Given the description of an element on the screen output the (x, y) to click on. 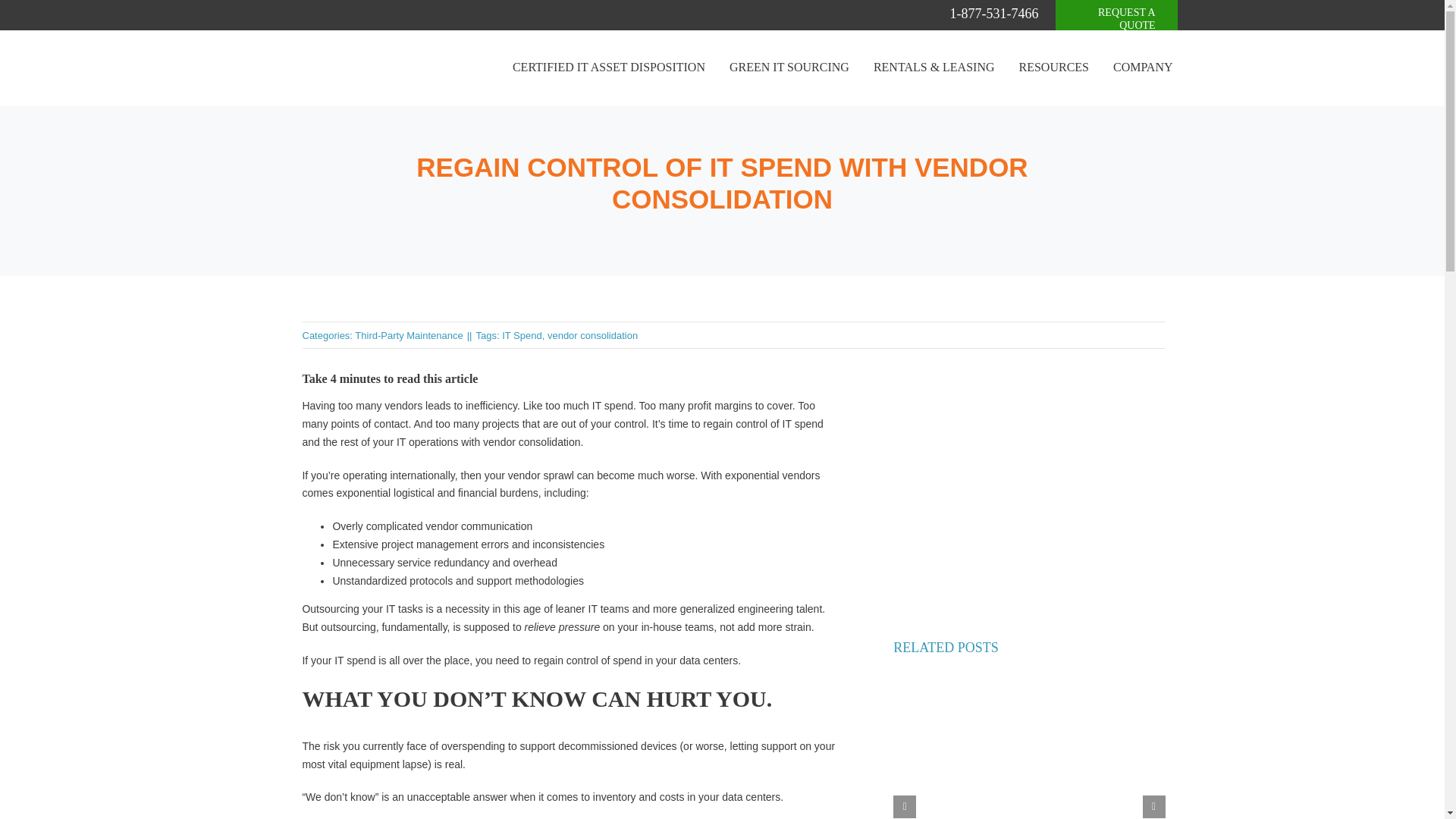
GREEN IT SOURCING (789, 68)
REQUEST A QUOTE (1115, 20)
CERTIFIED IT ASSET DISPOSITION (609, 68)
